Given the description of an element on the screen output the (x, y) to click on. 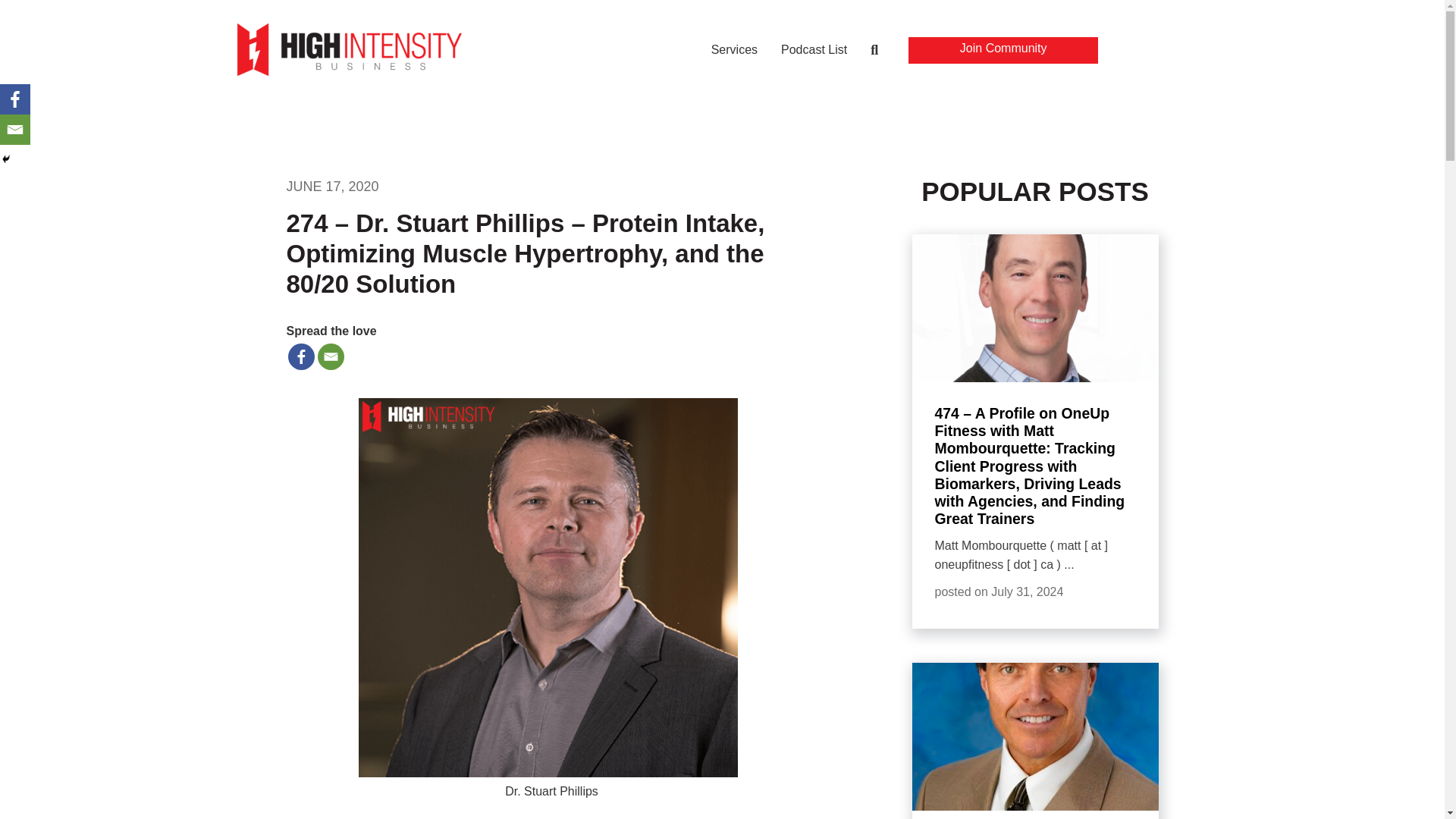
Podcast List (814, 51)
Hide (5, 159)
Join Community (1002, 49)
Facebook (15, 99)
Services (734, 51)
HIGH INTENSITY BUSINESS LOGO (348, 49)
Email (15, 129)
